Given the description of an element on the screen output the (x, y) to click on. 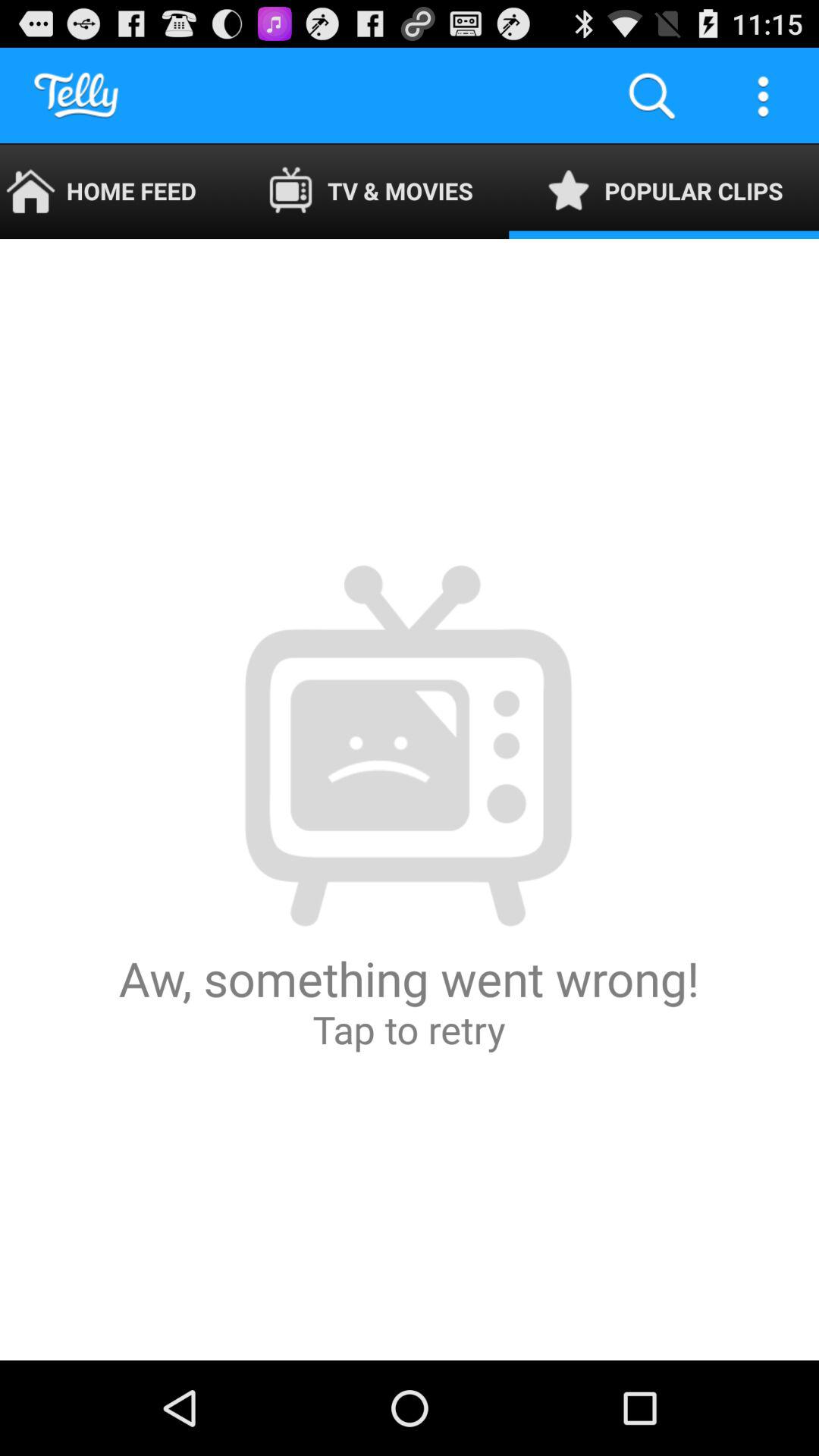
select item below the home feed app (409, 799)
